Given the description of an element on the screen output the (x, y) to click on. 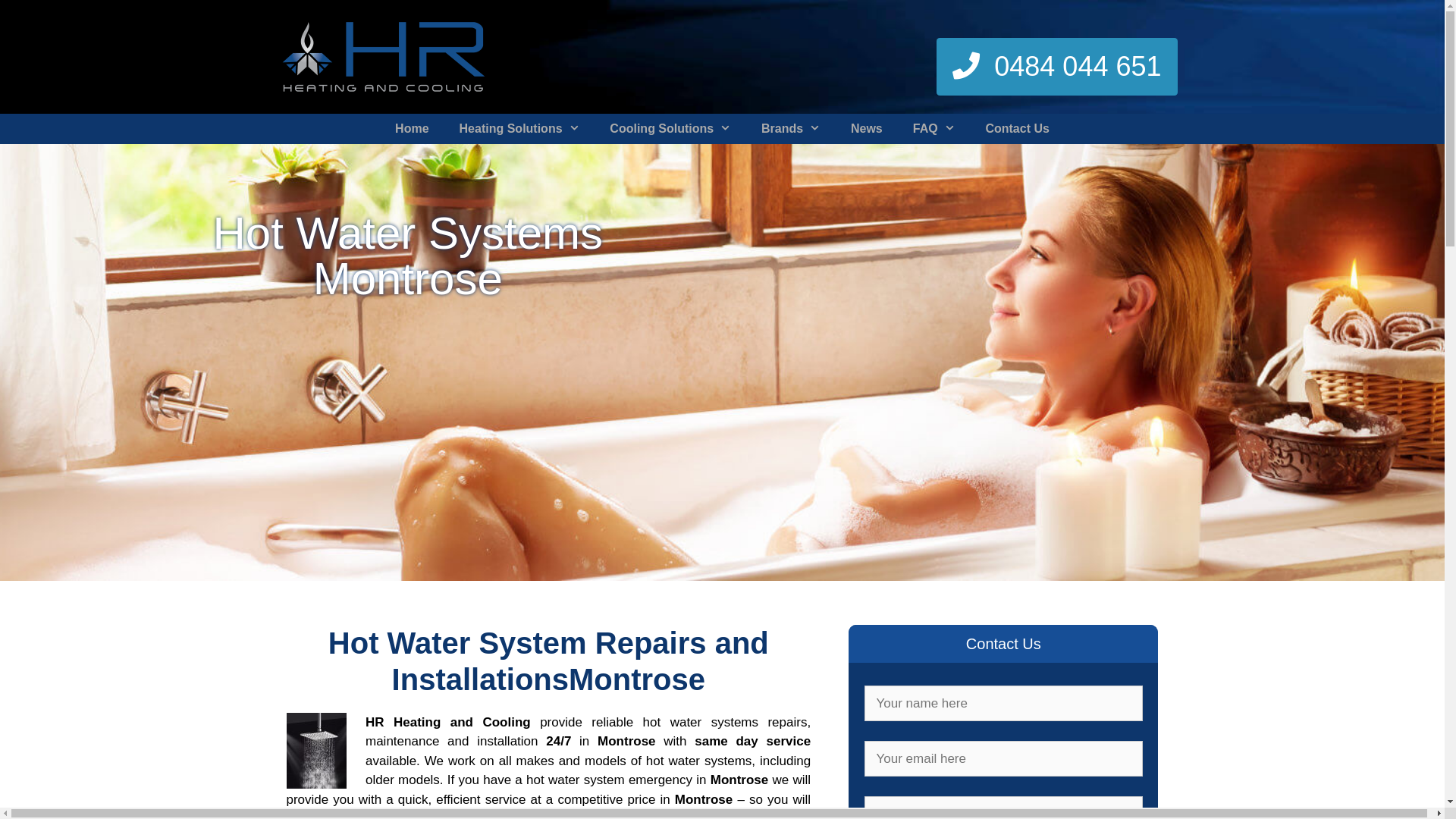
FAQ Element type: text (933, 128)
Cooling Solutions Element type: text (670, 128)
  0484 044 651 Element type: text (1056, 66)
  0484 044 651 Element type: text (1056, 71)
HR Heating and Cooling Element type: hover (382, 55)
News Element type: text (866, 128)
Contact Us Element type: text (1016, 128)
Home Element type: text (411, 128)
Brands Element type: text (790, 128)
Heating Solutions Element type: text (519, 128)
HR Heating and Cooling Element type: hover (382, 56)
